Given the description of an element on the screen output the (x, y) to click on. 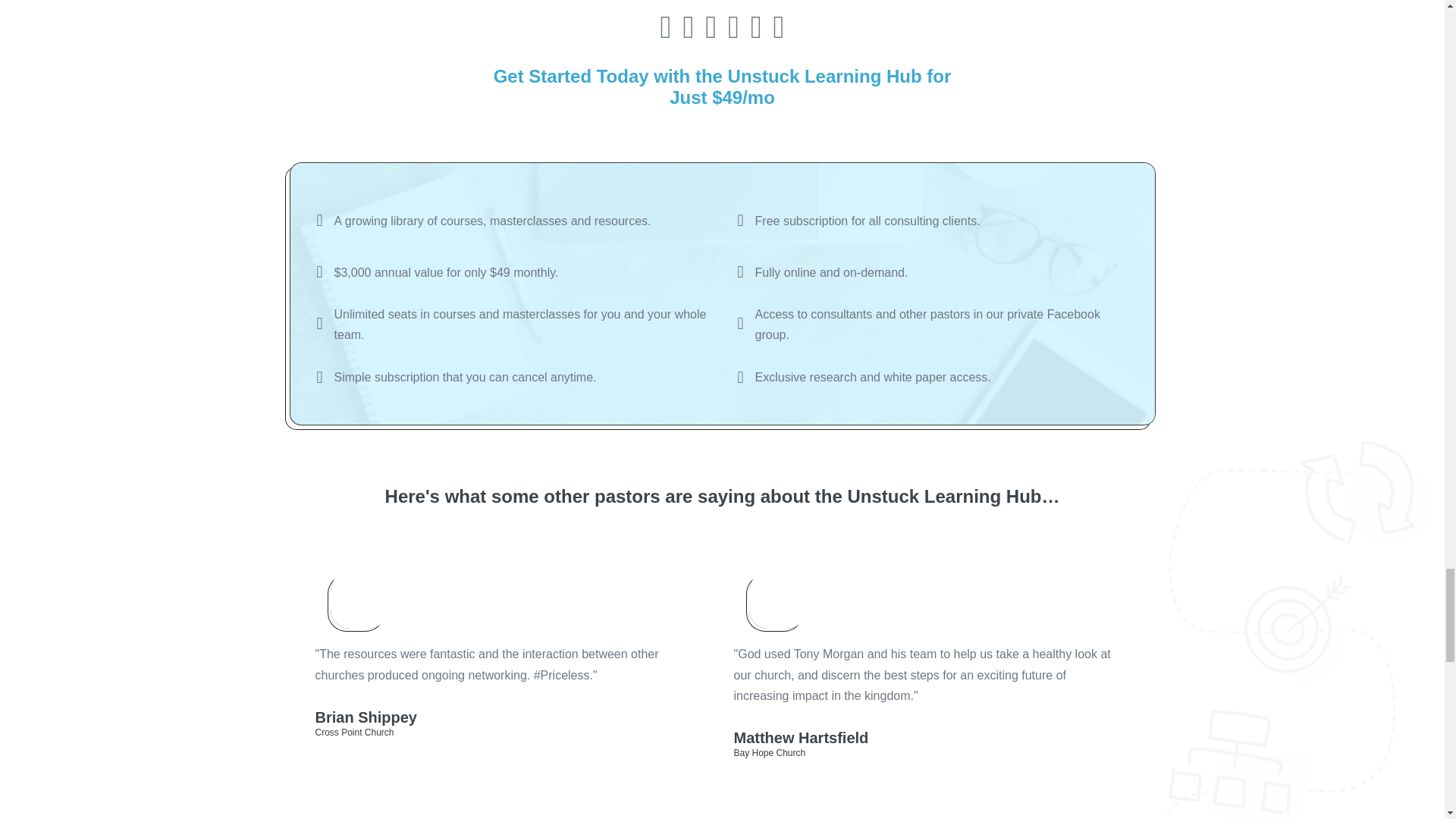
Bryan Shippey (358, 599)
